Given the description of an element on the screen output the (x, y) to click on. 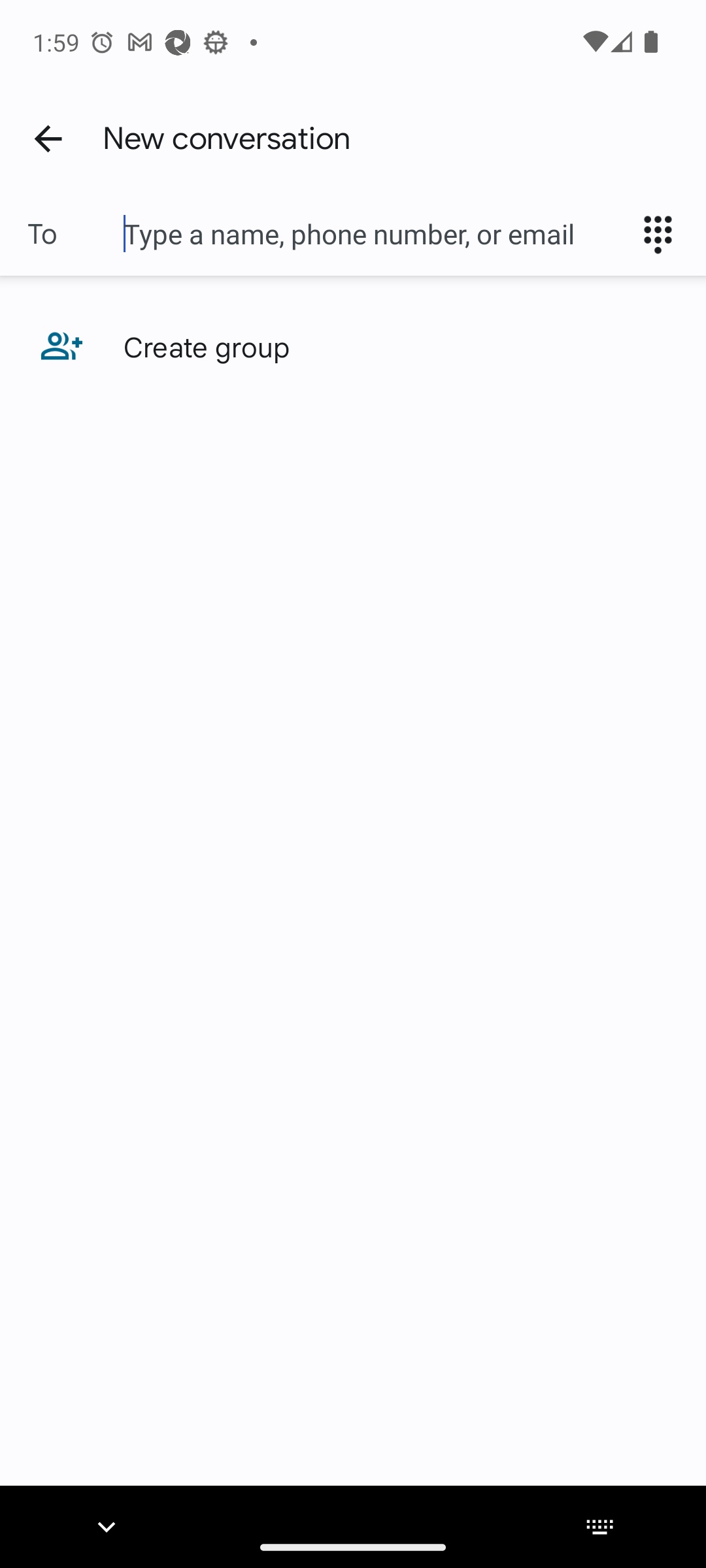
Navigate up (48, 137)
Type a name, phone number, or email (373, 233)
Switch between entering text and numbers (664, 233)
Create group (353, 346)
